Given the description of an element on the screen output the (x, y) to click on. 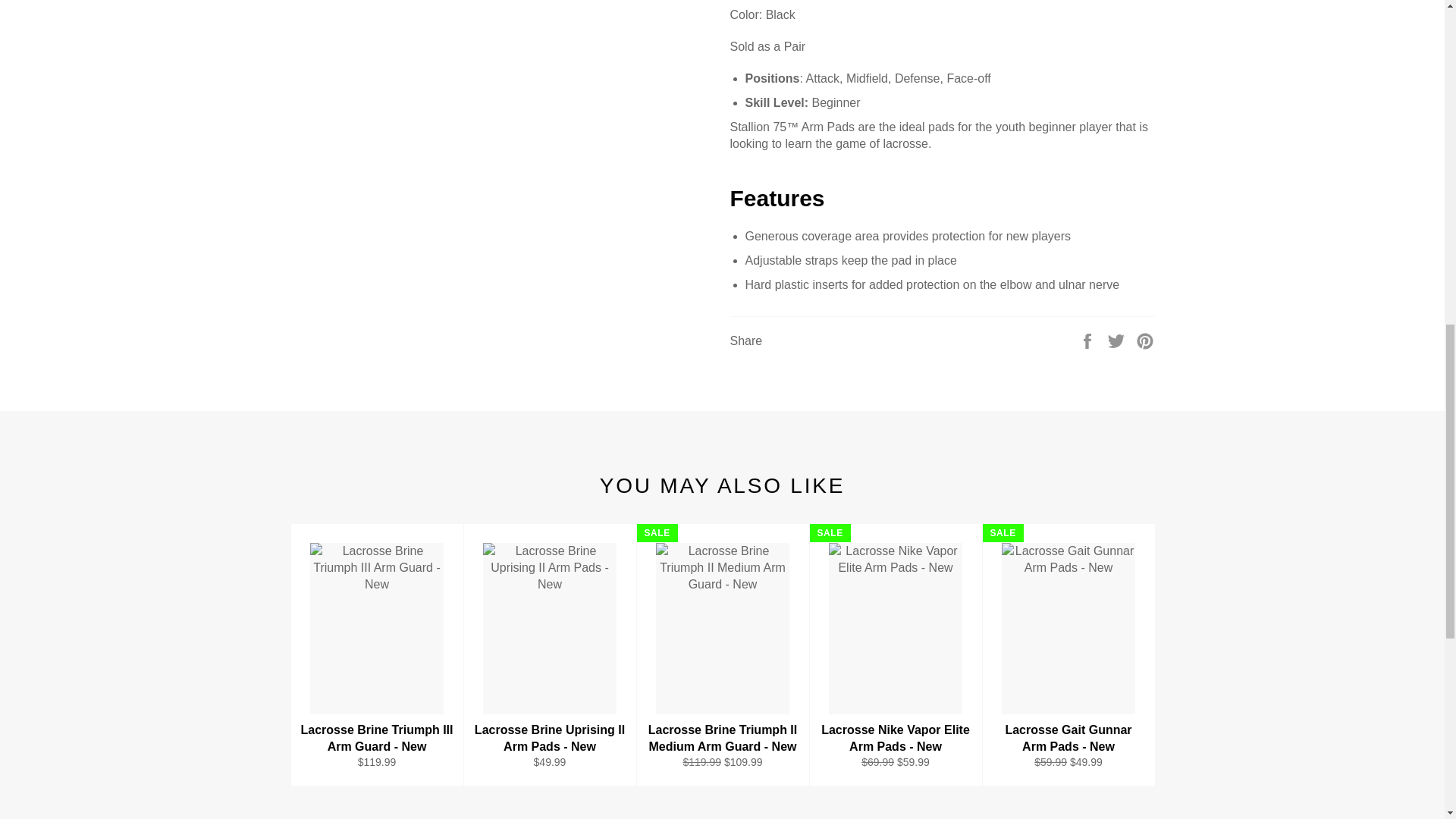
Share on Facebook (1088, 339)
Tweet on Twitter (1117, 339)
Pin on Pinterest (1144, 339)
